Given the description of an element on the screen output the (x, y) to click on. 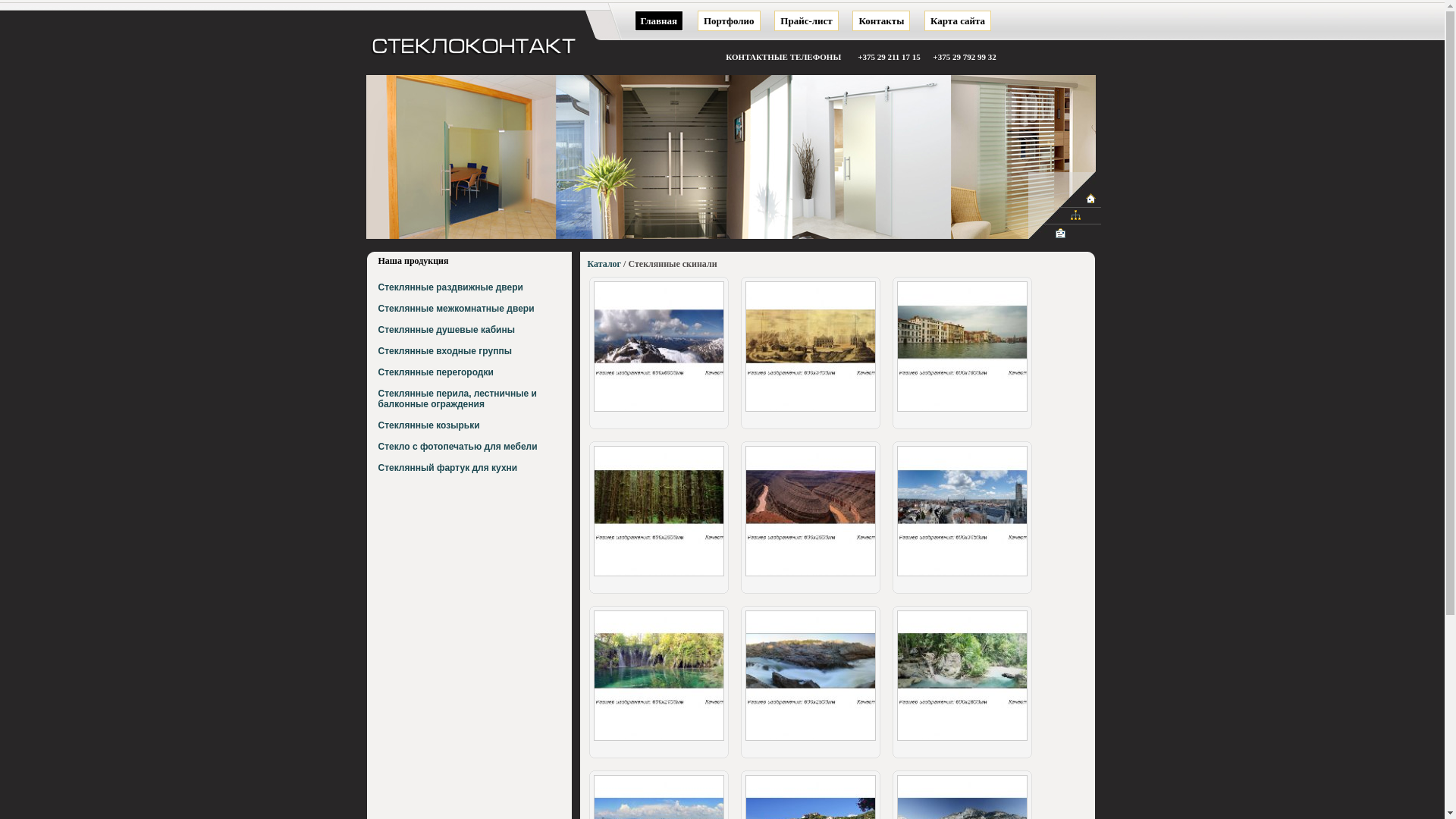
 -  Element type: hover (961, 739)
 -  Element type: hover (809, 410)
 -  Element type: hover (961, 575)
 -  Element type: hover (658, 739)
 -  Element type: hover (809, 739)
 -  Element type: hover (961, 410)
 -  Element type: hover (658, 575)
 -  Element type: hover (658, 410)
 -  Element type: hover (809, 575)
